Given the description of an element on the screen output the (x, y) to click on. 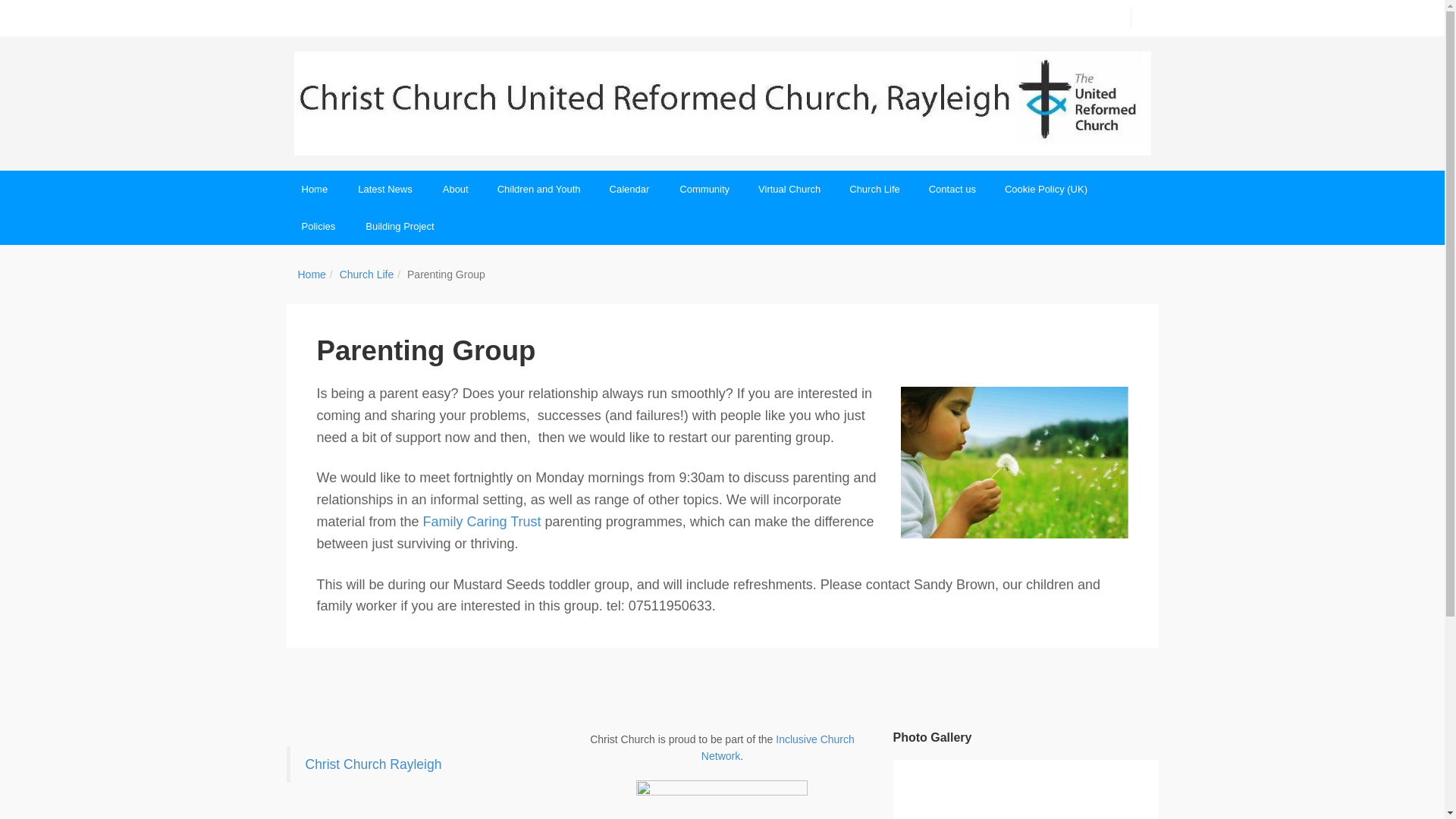
Virtual Church (788, 189)
Calendar (629, 189)
Children and Youth (537, 189)
About (454, 189)
Church Life (366, 274)
Community (702, 189)
Latest News (385, 189)
Christ Church United Reformed Church, Rayleigh (722, 103)
Home (314, 189)
Home (310, 274)
